Given the description of an element on the screen output the (x, y) to click on. 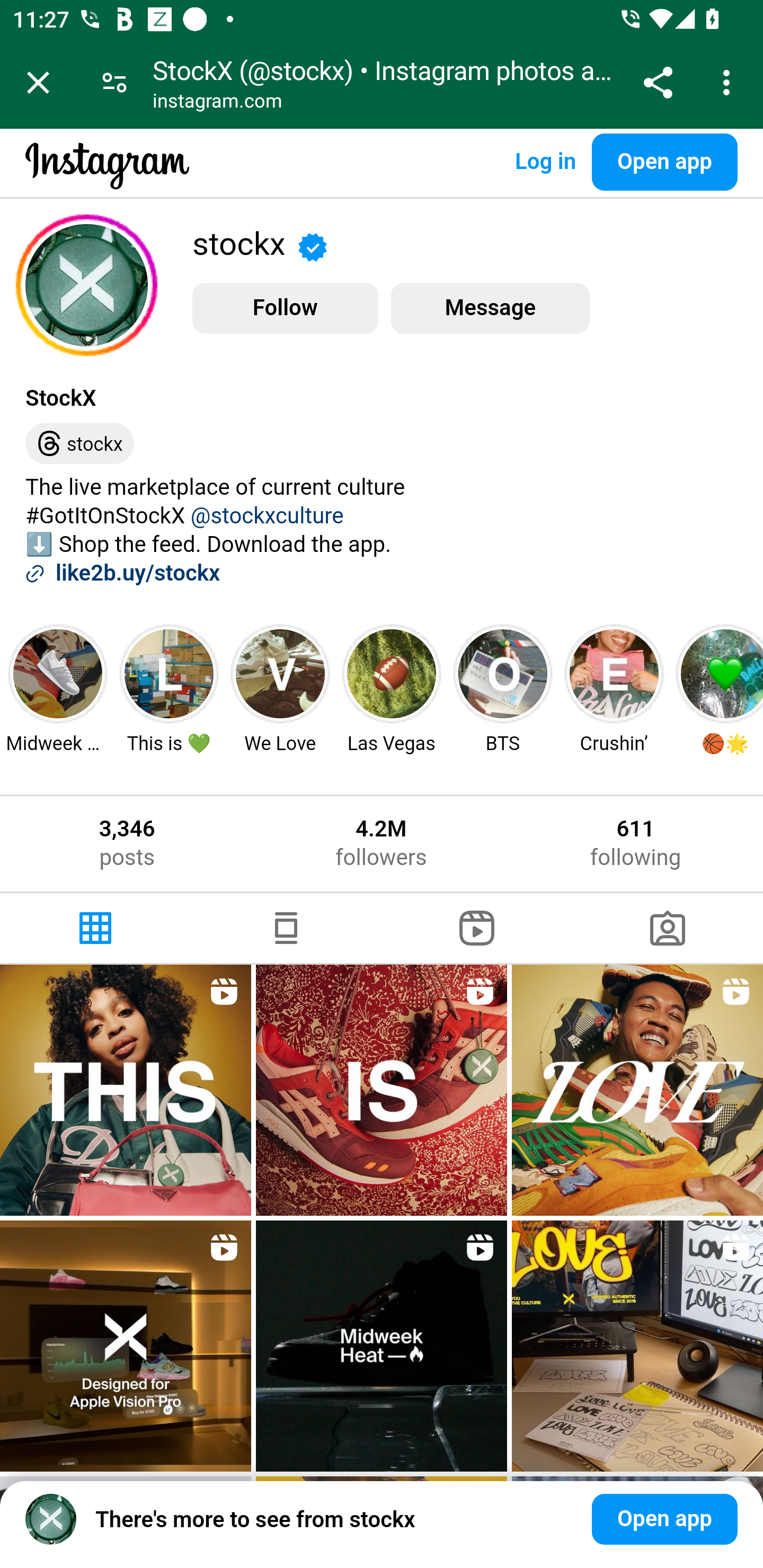
Close tab (38, 82)
Share (657, 82)
Customize and control Google Chrome (729, 82)
Connection is secure (114, 81)
instagram.com (217, 103)
Log in (544, 162)
Open app (664, 162)
stockx's profile picture (86, 285)
Follow (285, 307)
Message (489, 307)
Threads stockx Threads stockx (80, 443)
@stockxculture (266, 515)
like2b.uy/stockx (138, 573)
🏀🌟's profile picture 🏀🌟 🏀🌟's profile picture 🏀🌟 (717, 687)
Midweek Heat's profile picture (57, 673)
This is 💚's profile picture (168, 673)
We Love's profile picture (280, 673)
Las Vegas's profile picture (391, 673)
BTS's profile picture (502, 673)
Crushin’'s profile picture (614, 673)
🏀🌟's profile picture (721, 673)
3,346 posts (126, 843)
4.2M followers (380, 843)
611 following (635, 843)
Posts (95, 927)
Feed (285, 927)
Reels (476, 927)
Tagged (667, 927)
stockx's profile picture (50, 1519)
Open app (664, 1519)
